Given the description of an element on the screen output the (x, y) to click on. 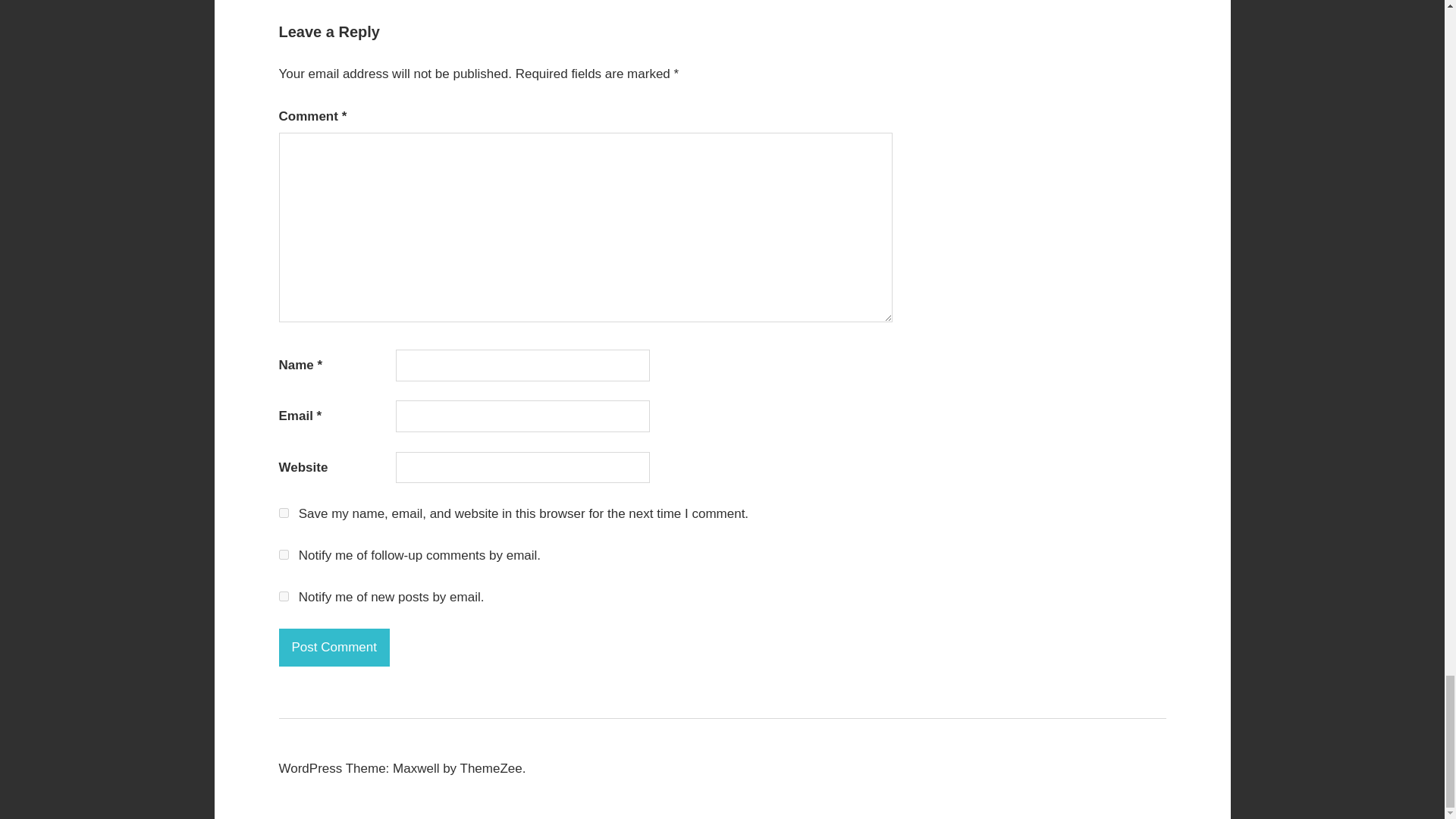
yes (283, 512)
Post Comment (334, 647)
subscribe (283, 596)
subscribe (283, 554)
Post Comment (334, 647)
